Given the description of an element on the screen output the (x, y) to click on. 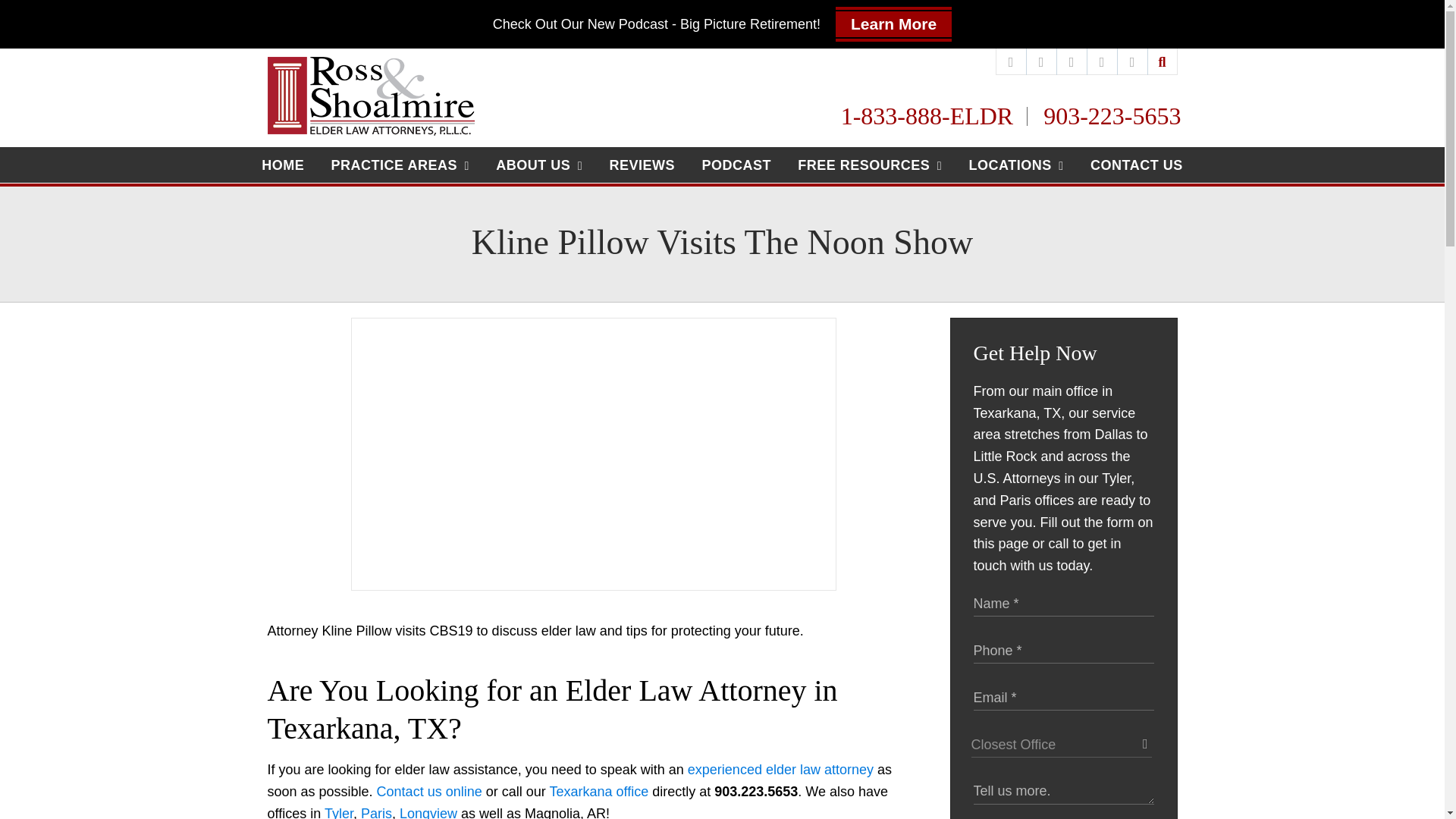
Search (1162, 61)
Learn More (893, 23)
LOCATIONS (1016, 164)
PRACTICE AREAS (400, 164)
PODCAST (736, 164)
HOME (282, 164)
FREE RESOURCES (869, 164)
ABOUT US (539, 164)
REVIEWS (641, 164)
